Given the description of an element on the screen output the (x, y) to click on. 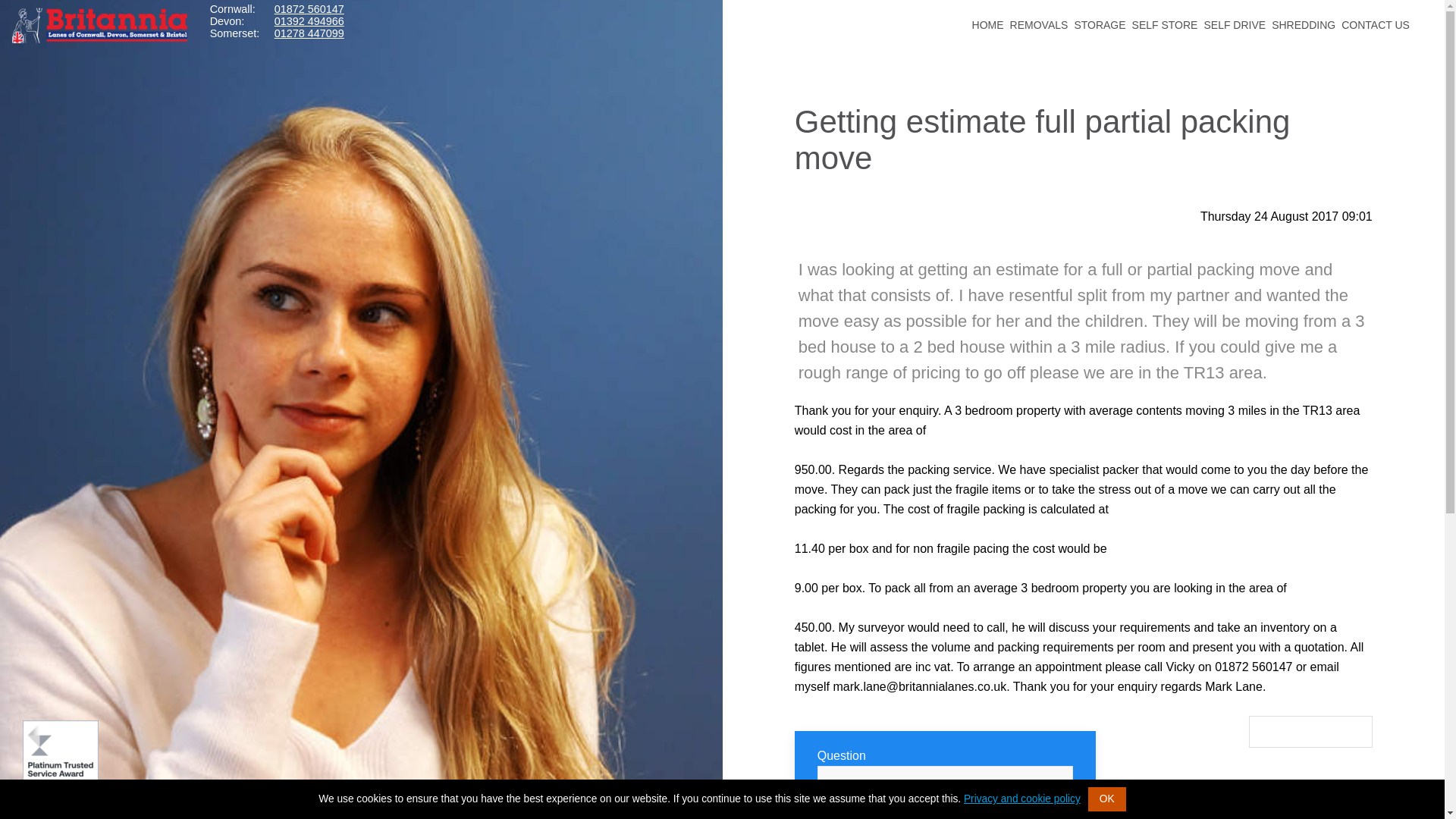
Back to questions (1310, 731)
SELF DRIVE (1234, 17)
REMOVALS (1039, 17)
HOME (988, 17)
Back to questions (1311, 731)
01392 494966 (309, 21)
SHREDDING (1303, 17)
01872 560147 (309, 9)
CONTACT US (1374, 17)
SELF STORE (1165, 17)
